Given the description of an element on the screen output the (x, y) to click on. 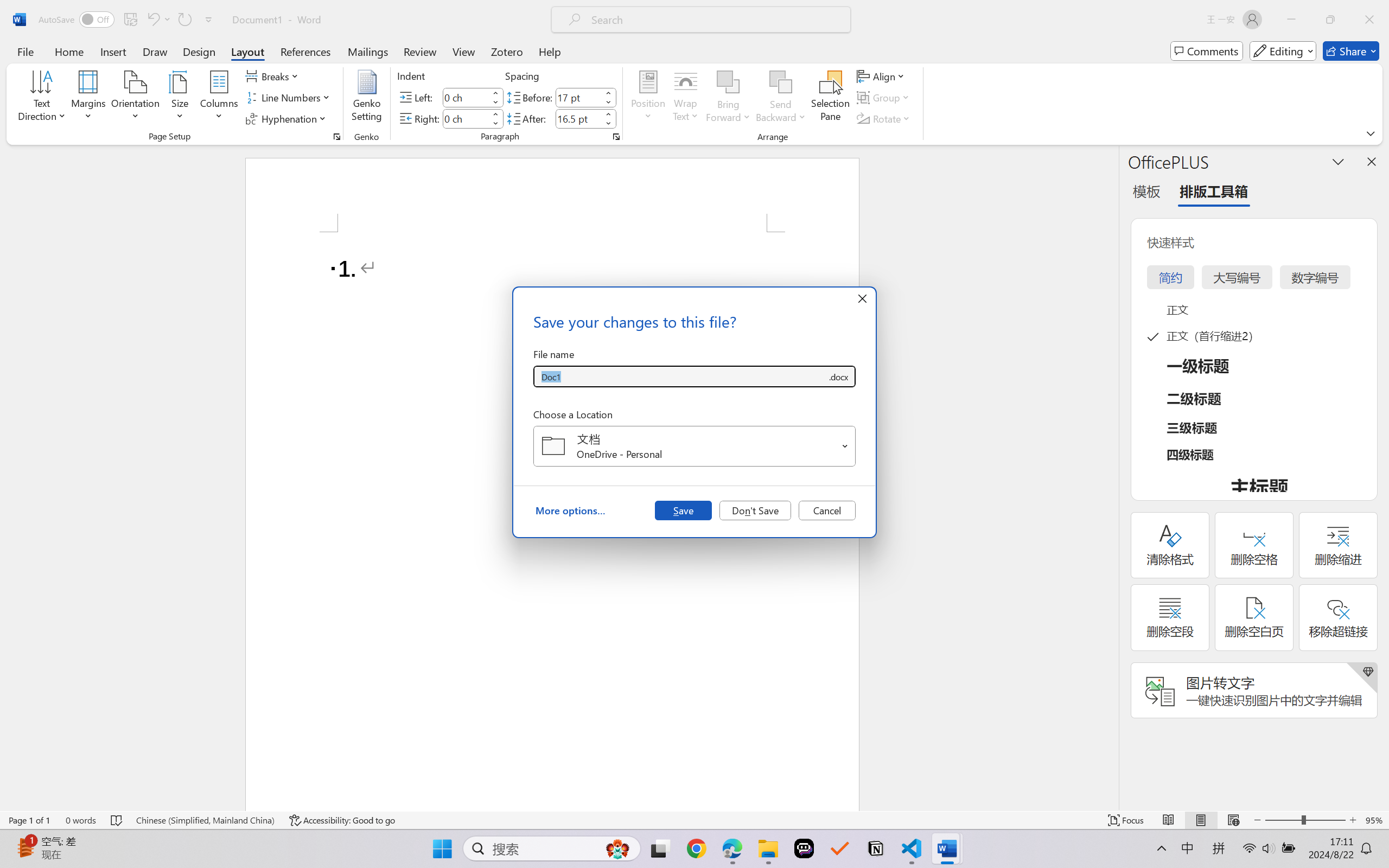
Size (180, 97)
Spacing After (578, 118)
Hyphenation (287, 118)
